Given the description of an element on the screen output the (x, y) to click on. 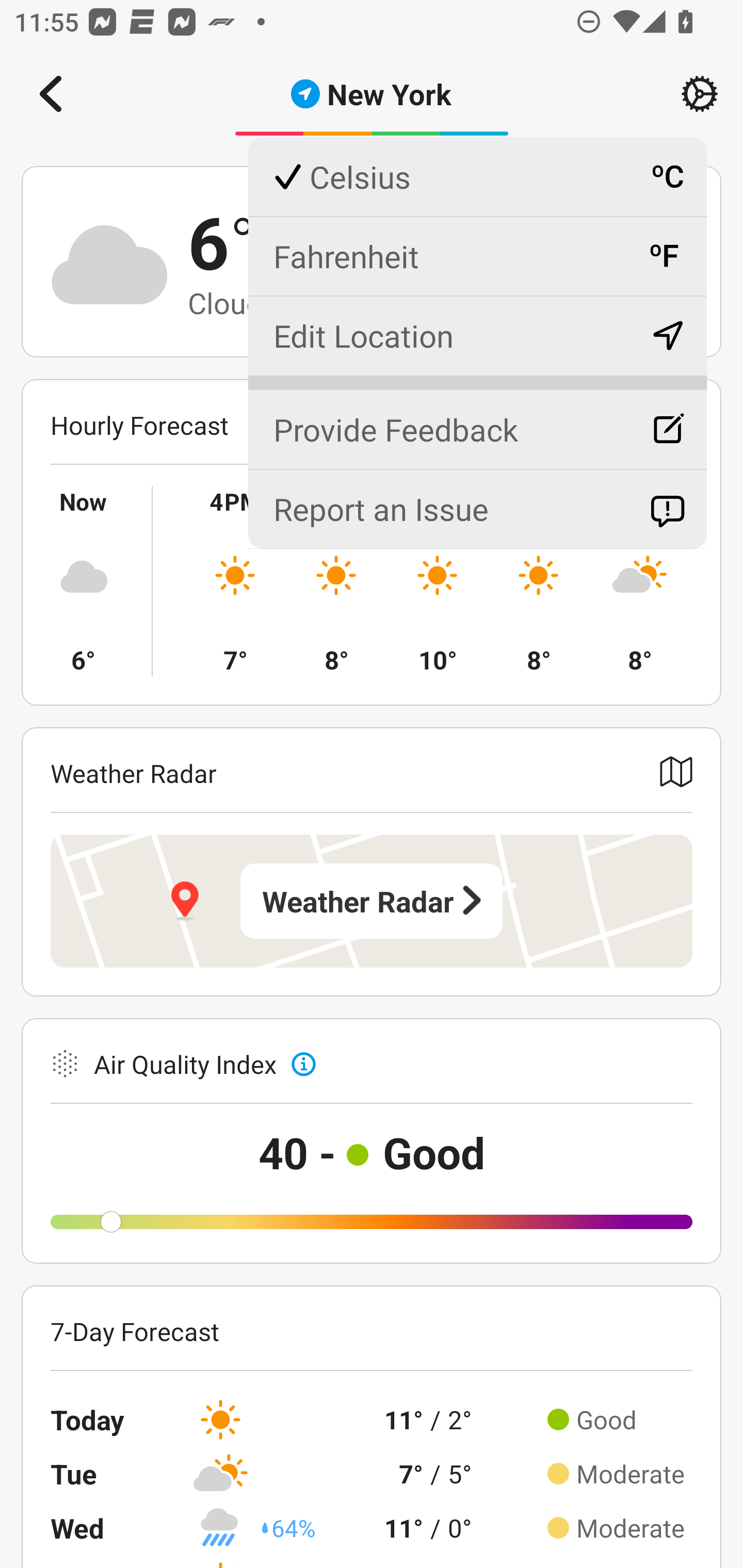
Celsius (477, 176)
Fahrenheit (477, 256)
Edit Location (477, 335)
Provide Feedback (477, 421)
Report an Issue (477, 508)
